Given the description of an element on the screen output the (x, y) to click on. 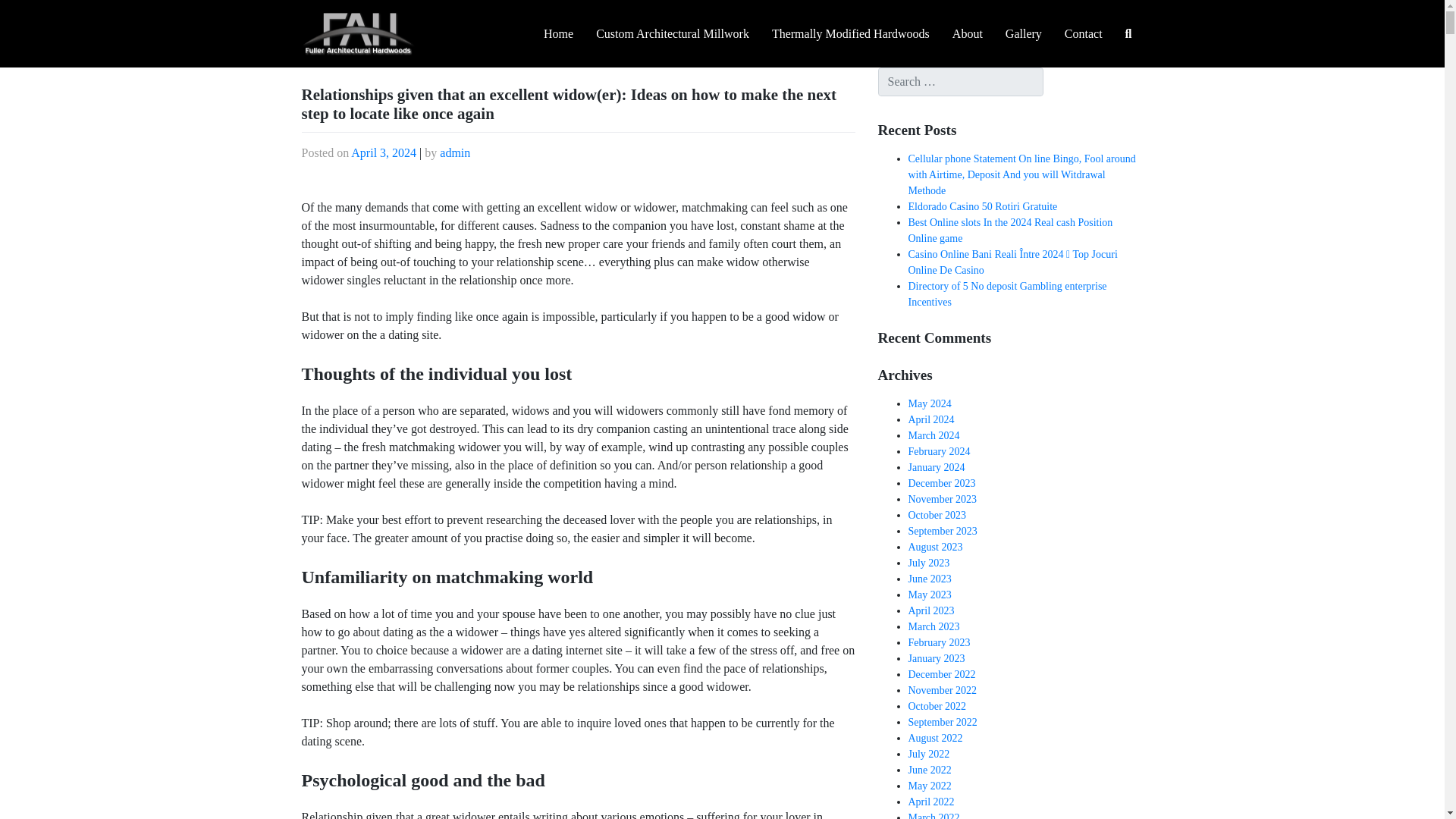
April 2024 (931, 419)
Directory of 5 No deposit Gambling enterprise Incentives (1007, 293)
Home (558, 34)
September 2023 (942, 531)
About (967, 34)
November 2023 (942, 499)
December 2023 (941, 482)
July 2023 (929, 562)
Search for: (960, 81)
March 2024 (933, 435)
